Given the description of an element on the screen output the (x, y) to click on. 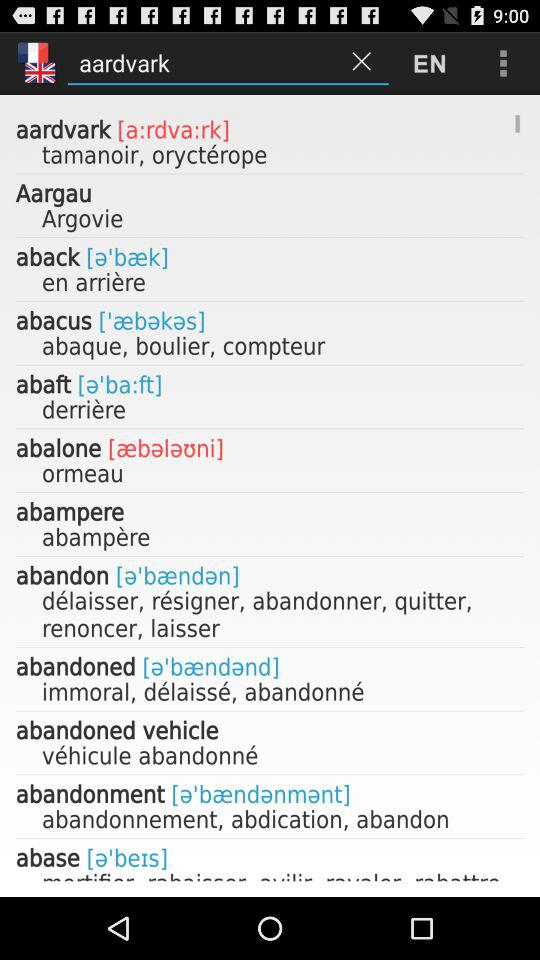
click the three dots button on the top right corner of the web page (503, 63)
